Given the description of an element on the screen output the (x, y) to click on. 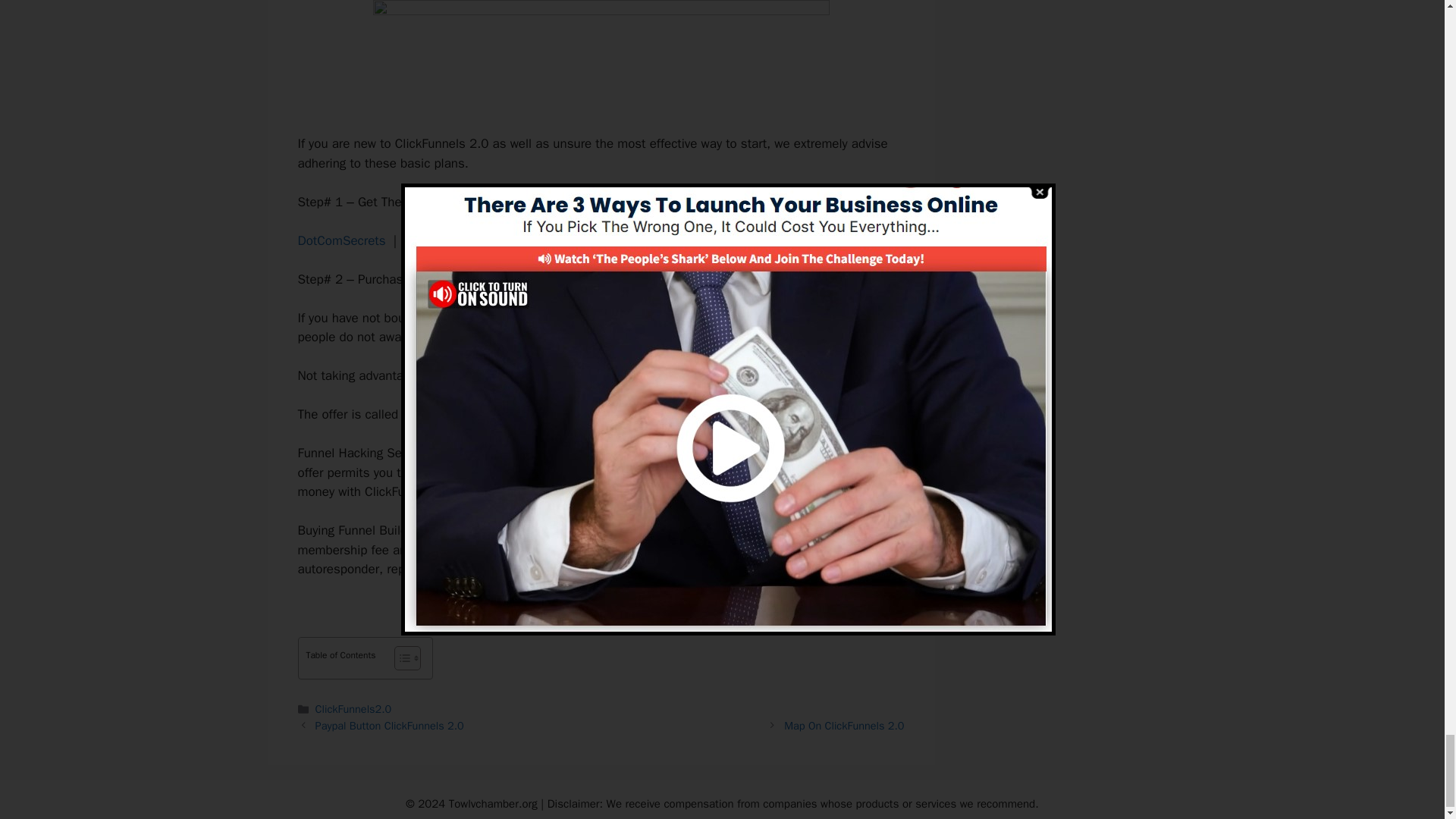
Traffic Secrets (545, 240)
DotComSecrets (341, 240)
ClickFunnels 2.0 (472, 317)
Funnel Builder Secrets (464, 414)
Expert Secrets (445, 240)
